Given the description of an element on the screen output the (x, y) to click on. 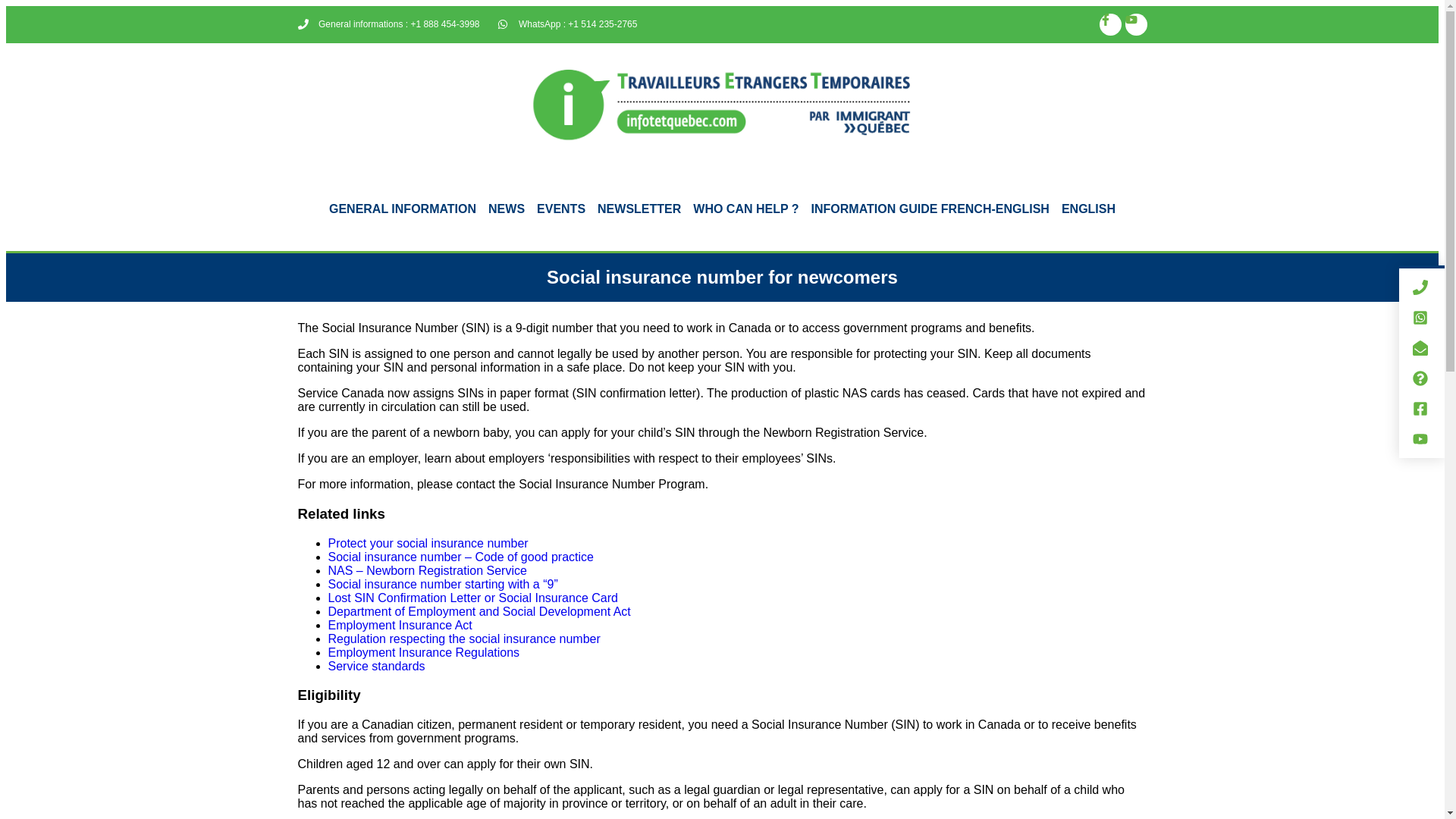
English (1088, 209)
EVENTS (561, 209)
WHO CAN HELP ? (746, 209)
INFORMATION GUIDE FRENCH-ENGLISH (930, 209)
NEWS (506, 209)
NEWSLETTER (639, 209)
ENGLISH (1088, 209)
GENERAL INFORMATION (402, 209)
